Given the description of an element on the screen output the (x, y) to click on. 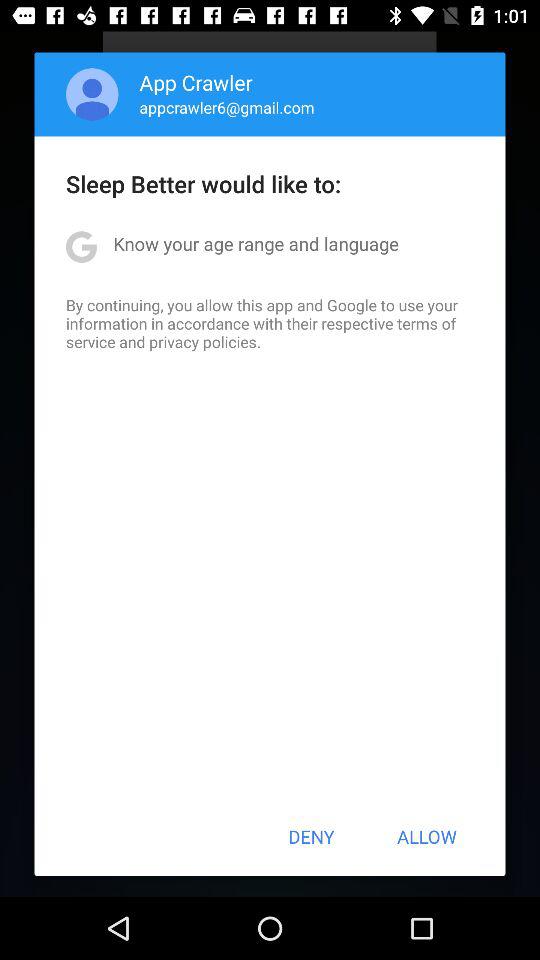
turn off the item at the bottom (311, 836)
